Given the description of an element on the screen output the (x, y) to click on. 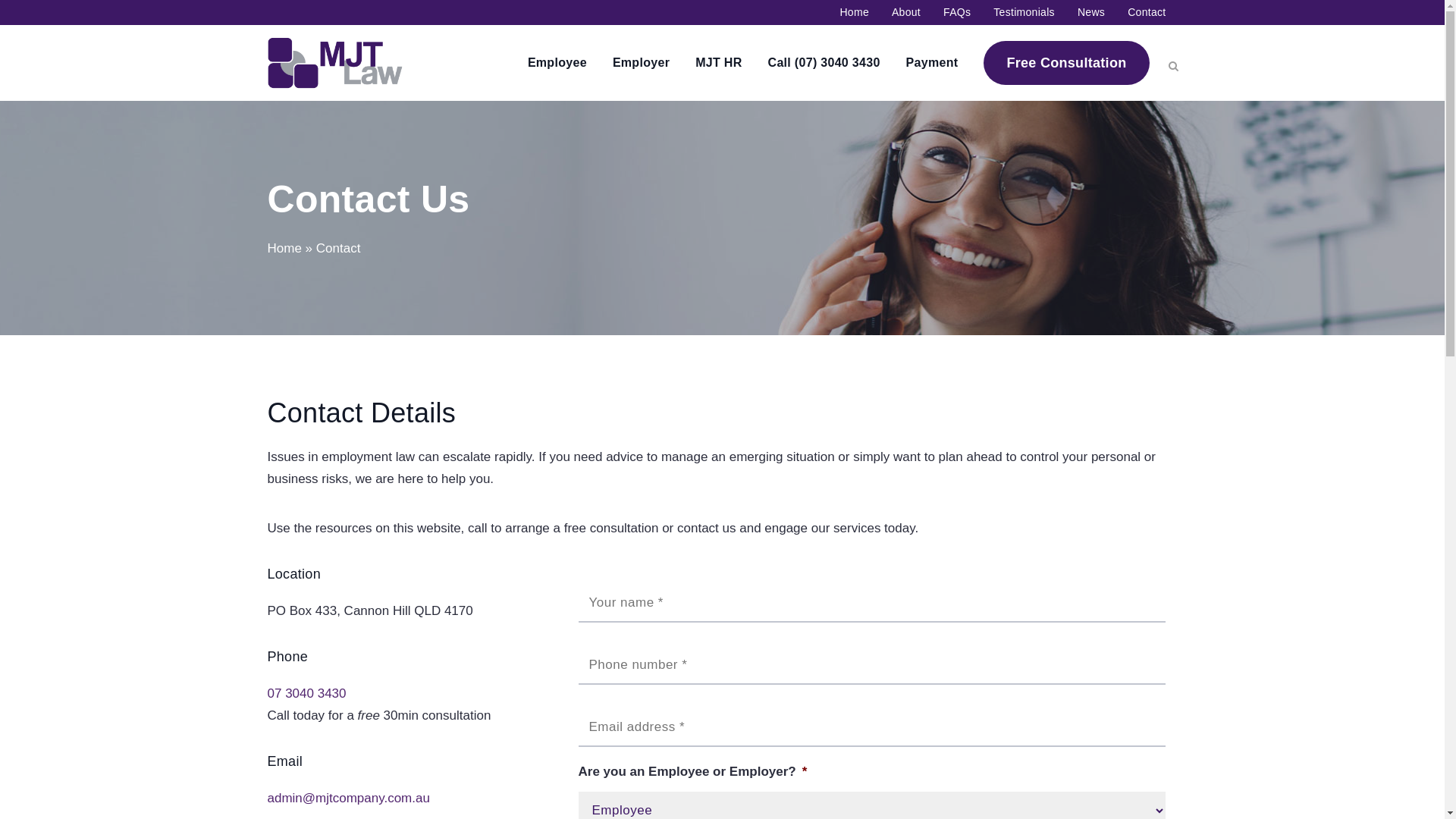
News Element type: text (1079, 12)
Home Element type: text (283, 248)
Employer Element type: text (640, 62)
FAQs Element type: text (945, 12)
admin@mjtcompany.com.au Element type: text (347, 797)
Employee Element type: text (556, 62)
Free Consultation Element type: text (1065, 62)
Call (07) 3040 3430 Element type: text (824, 62)
07 3040 3430 Element type: text (305, 693)
Testimonials Element type: text (1012, 12)
MJT HR Element type: text (718, 62)
Home Element type: text (842, 12)
Payment Element type: text (932, 62)
Contact Element type: text (1134, 12)
About Element type: text (894, 12)
